Given the description of an element on the screen output the (x, y) to click on. 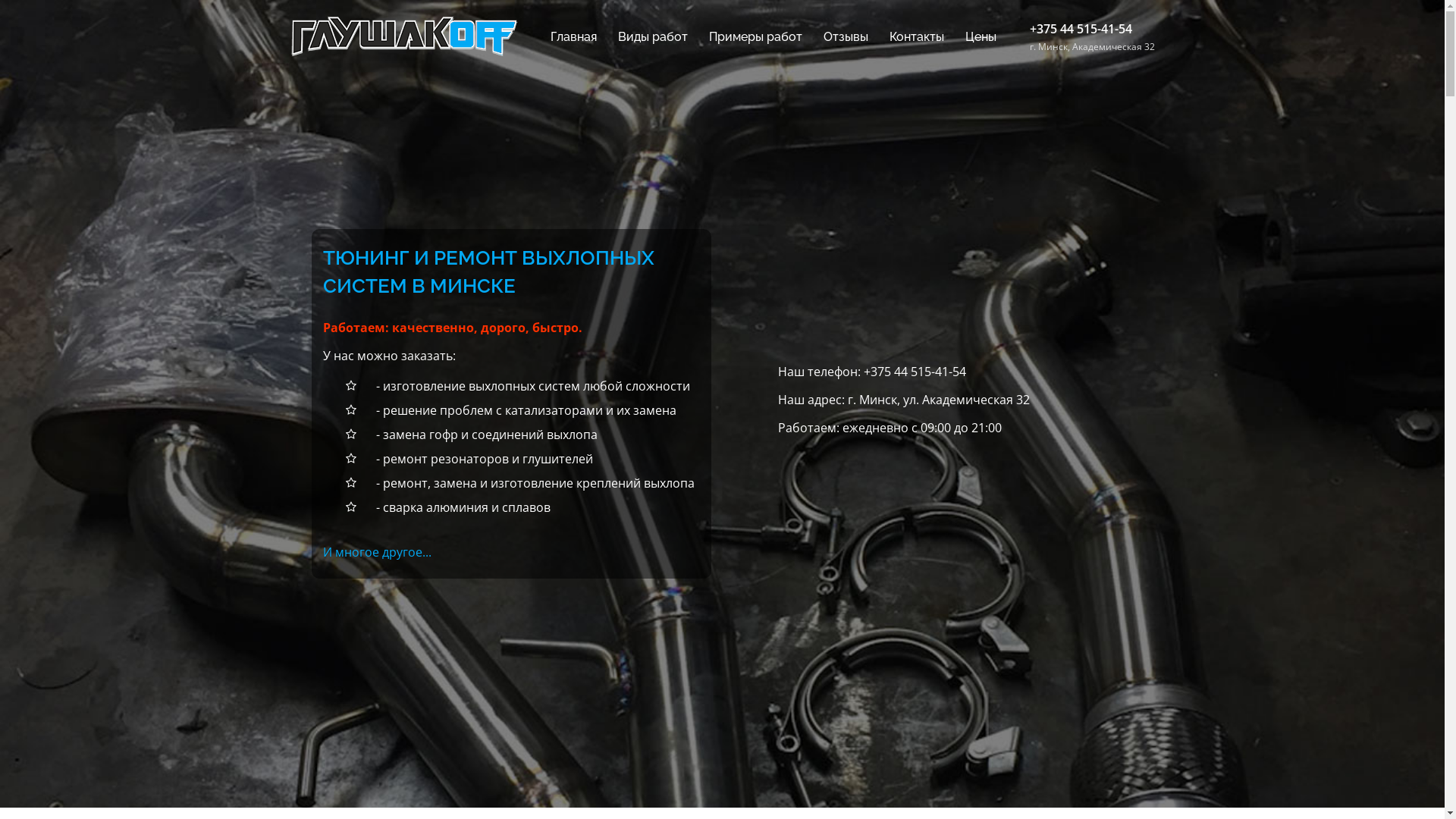
glushakoff.by Element type: hover (403, 35)
Skip to content Element type: text (0, 0)
+375 44 515-41-54 Element type: text (914, 371)
+375 44 515-41-54 Element type: text (1080, 28)
